Given the description of an element on the screen output the (x, y) to click on. 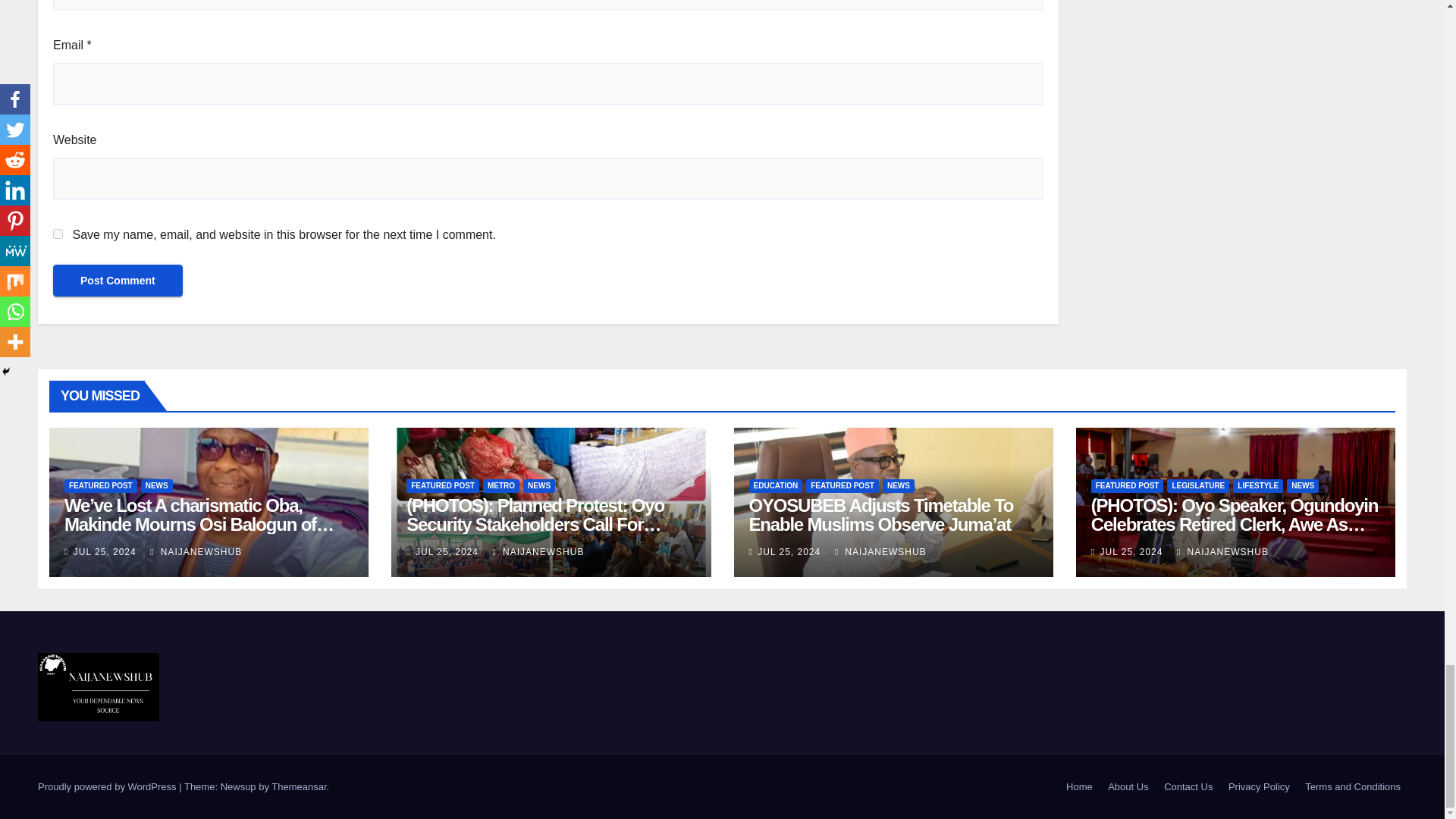
Post Comment (117, 280)
yes (57, 234)
